Given the description of an element on the screen output the (x, y) to click on. 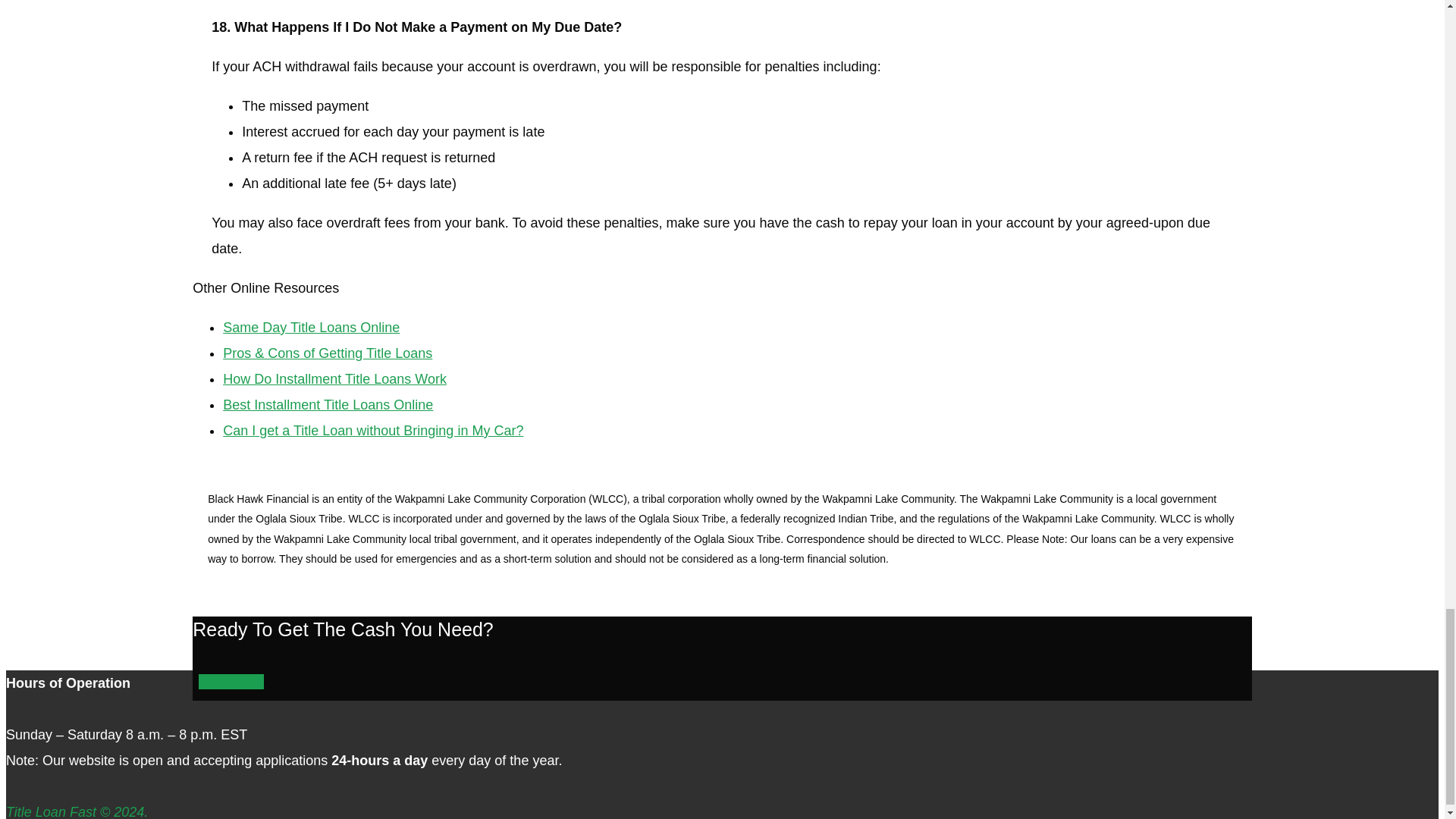
Can I get a Title Loan without Bringing in My Car? (372, 430)
Apply Now (230, 681)
How Do Installment Title Loans Work (334, 378)
Best Installment Title Loans Online (327, 404)
Same Day Title Loans Online (310, 327)
